Given the description of an element on the screen output the (x, y) to click on. 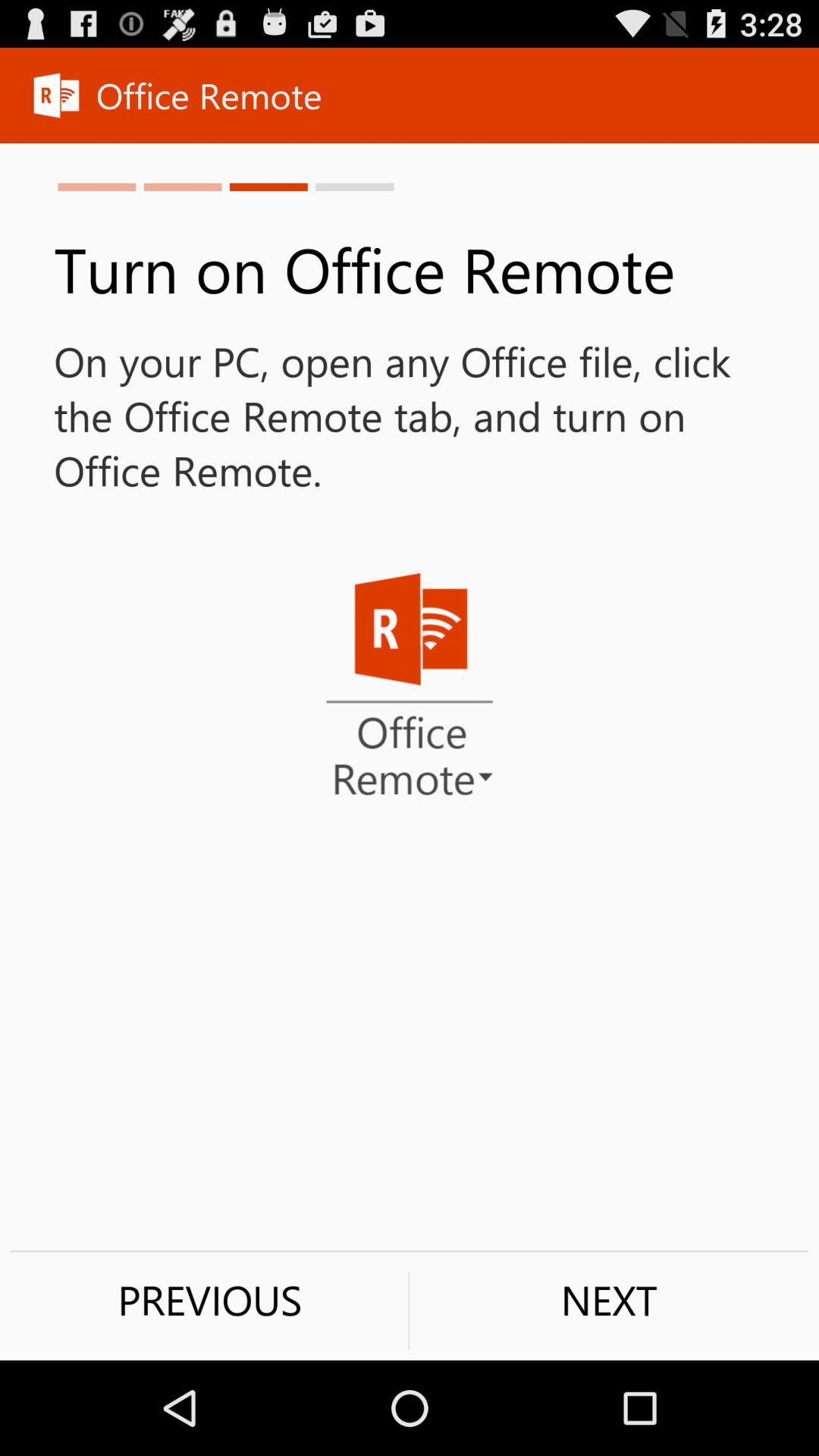
swipe until next item (608, 1300)
